Given the description of an element on the screen output the (x, y) to click on. 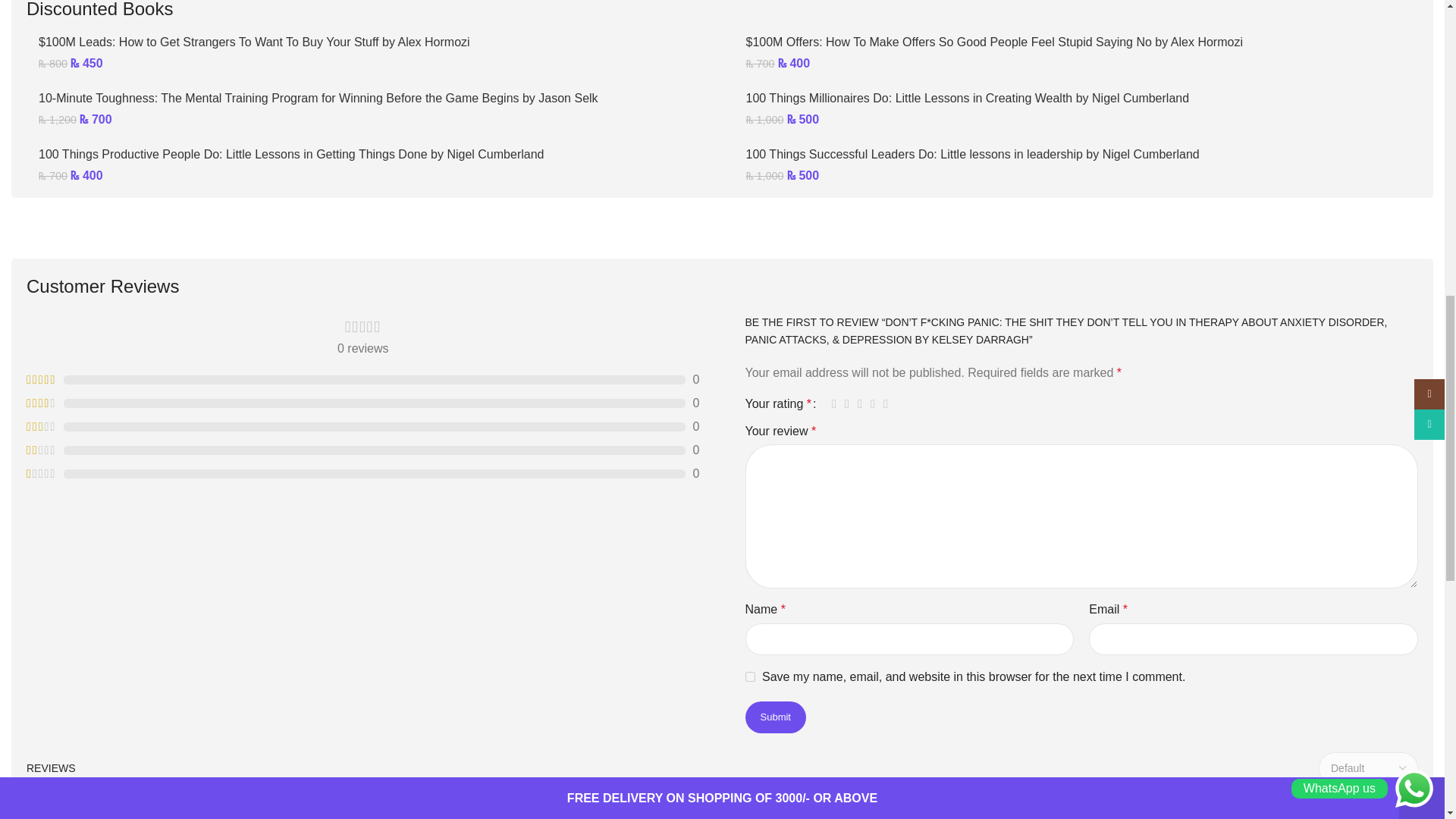
yes (749, 676)
Submit (774, 717)
